Given the description of an element on the screen output the (x, y) to click on. 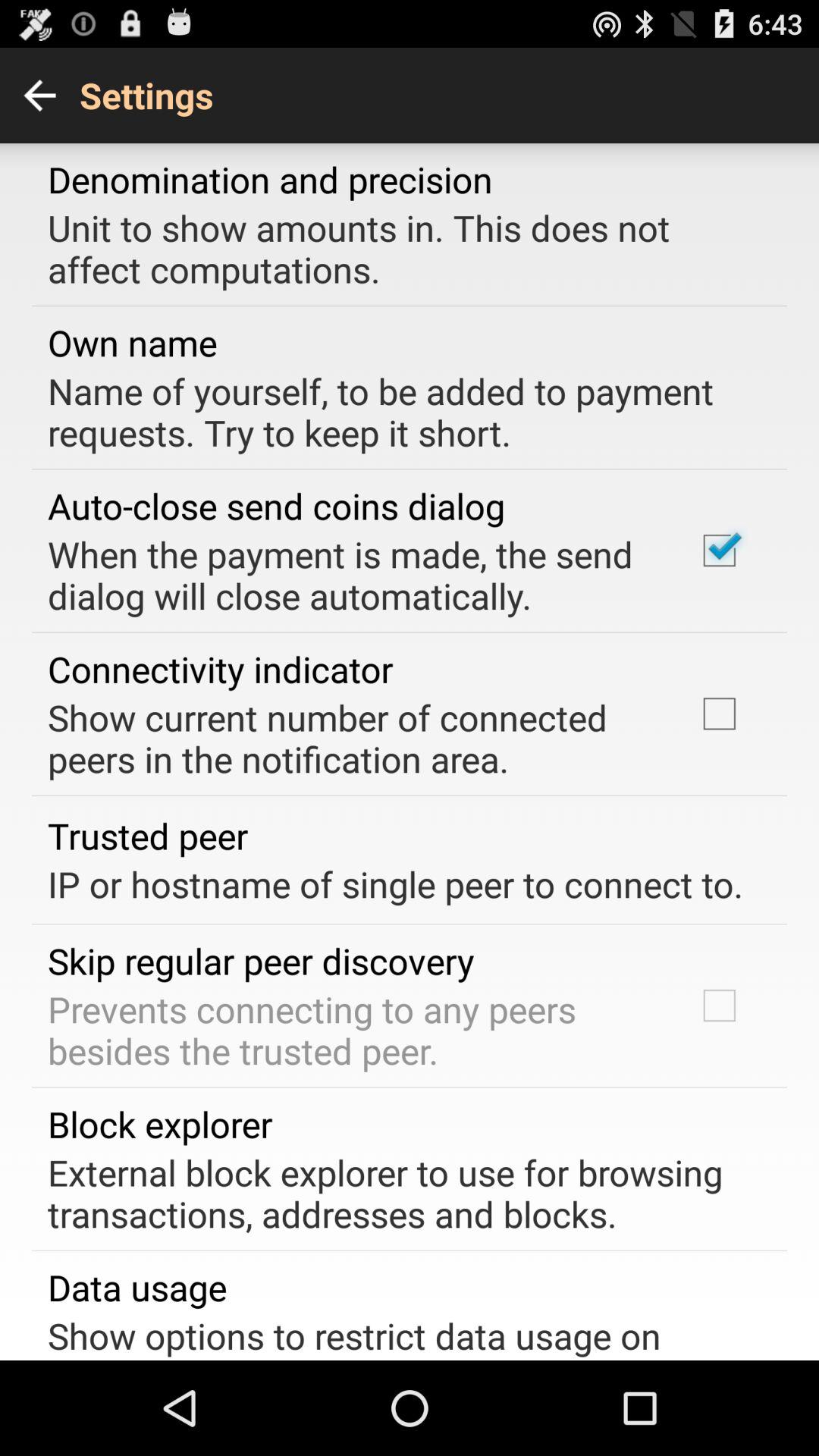
open the item above the name of yourself app (132, 342)
